Given the description of an element on the screen output the (x, y) to click on. 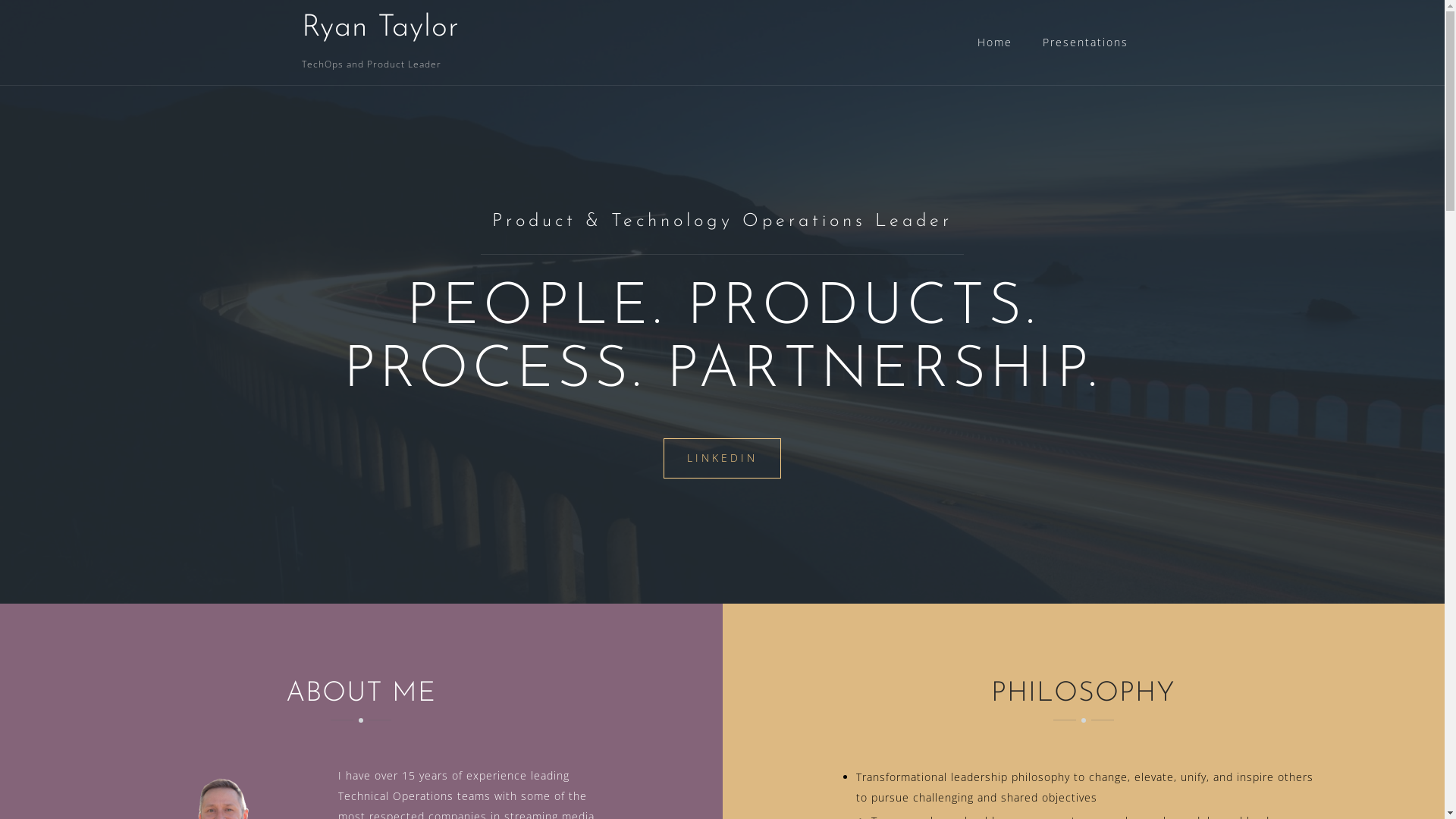
Presentations Element type: text (1084, 42)
LINKEDIN Element type: text (722, 458)
Ryan Taylor Element type: text (380, 27)
Home Element type: text (993, 42)
